Given the description of an element on the screen output the (x, y) to click on. 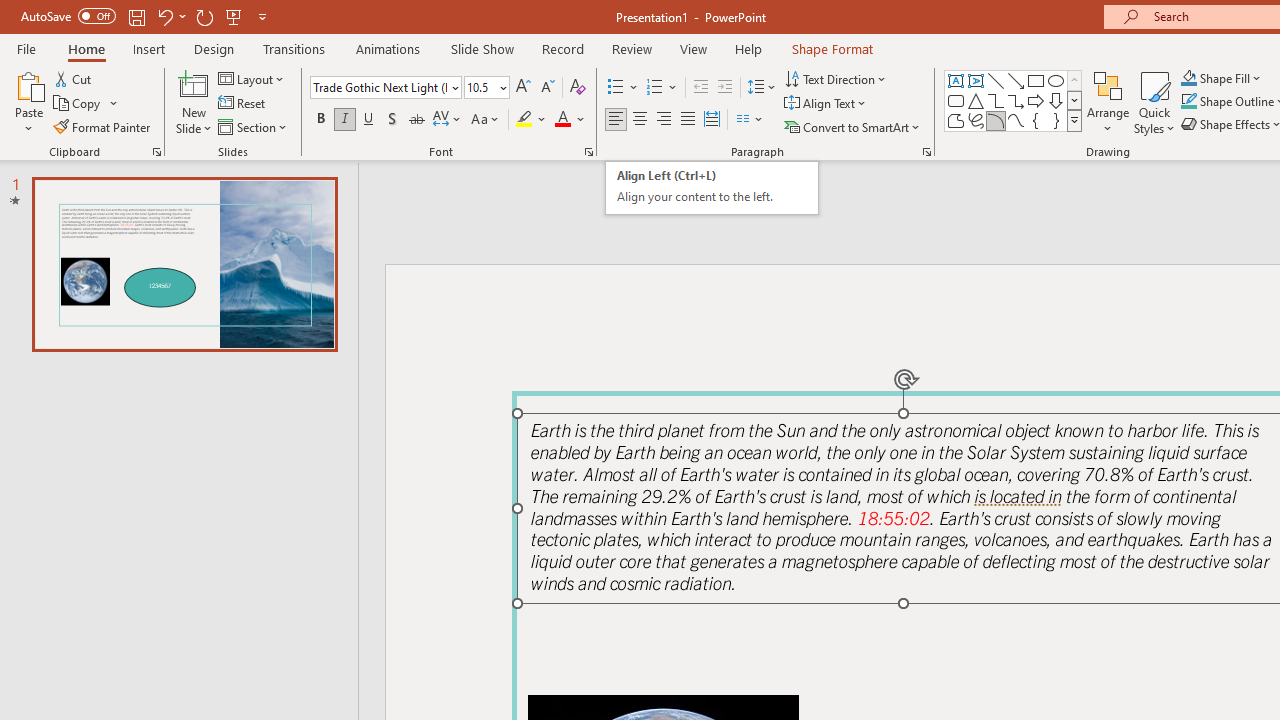
Shape Outline Teal, Accent 1 (1188, 101)
